Given the description of an element on the screen output the (x, y) to click on. 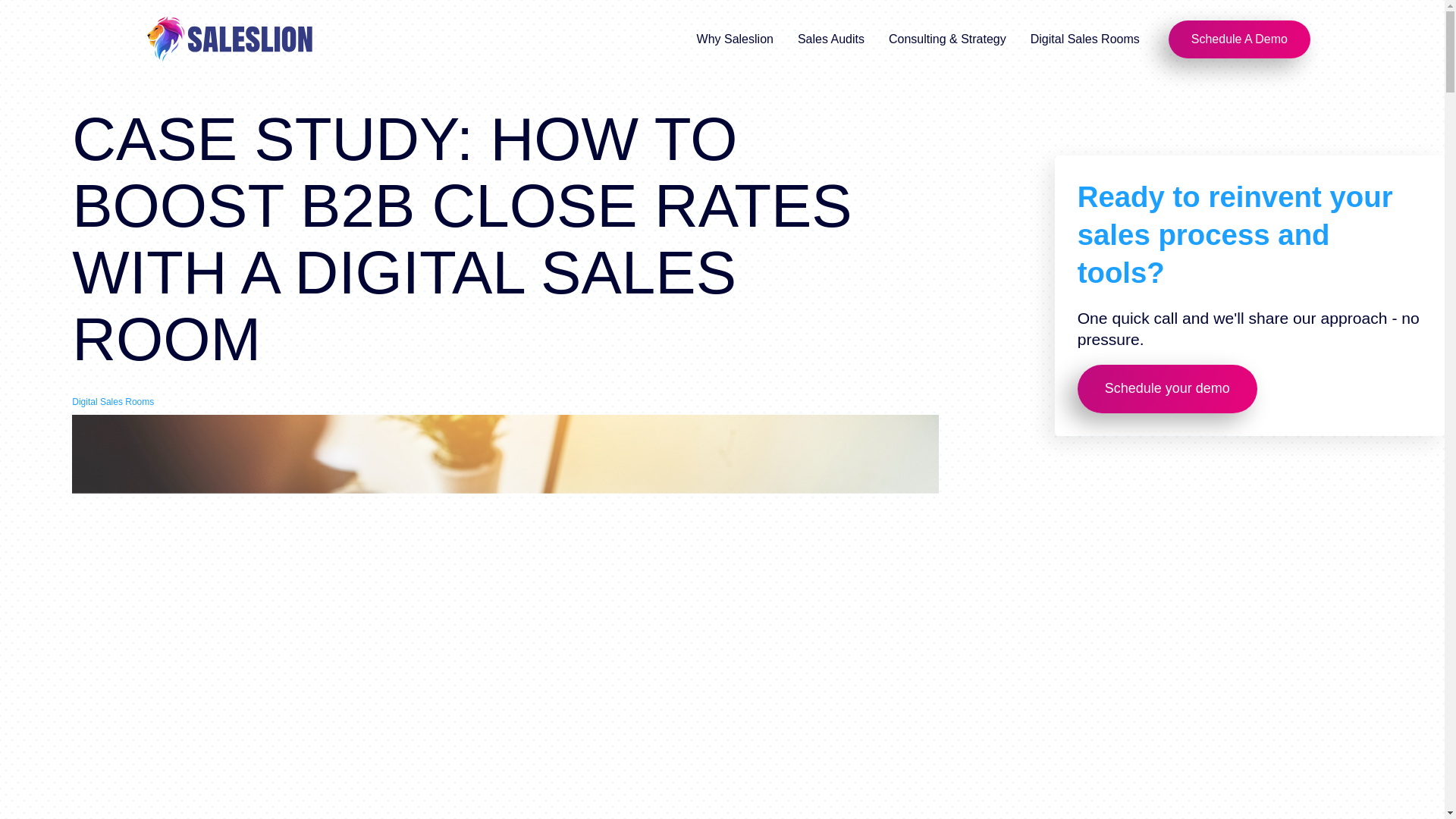
Digital Sales Rooms (112, 401)
Schedule A Demo (1239, 39)
Sales Audits (832, 39)
Schedule your demo (1167, 388)
Why Saleslion (736, 39)
Digital Sales Rooms (1086, 39)
